Given the description of an element on the screen output the (x, y) to click on. 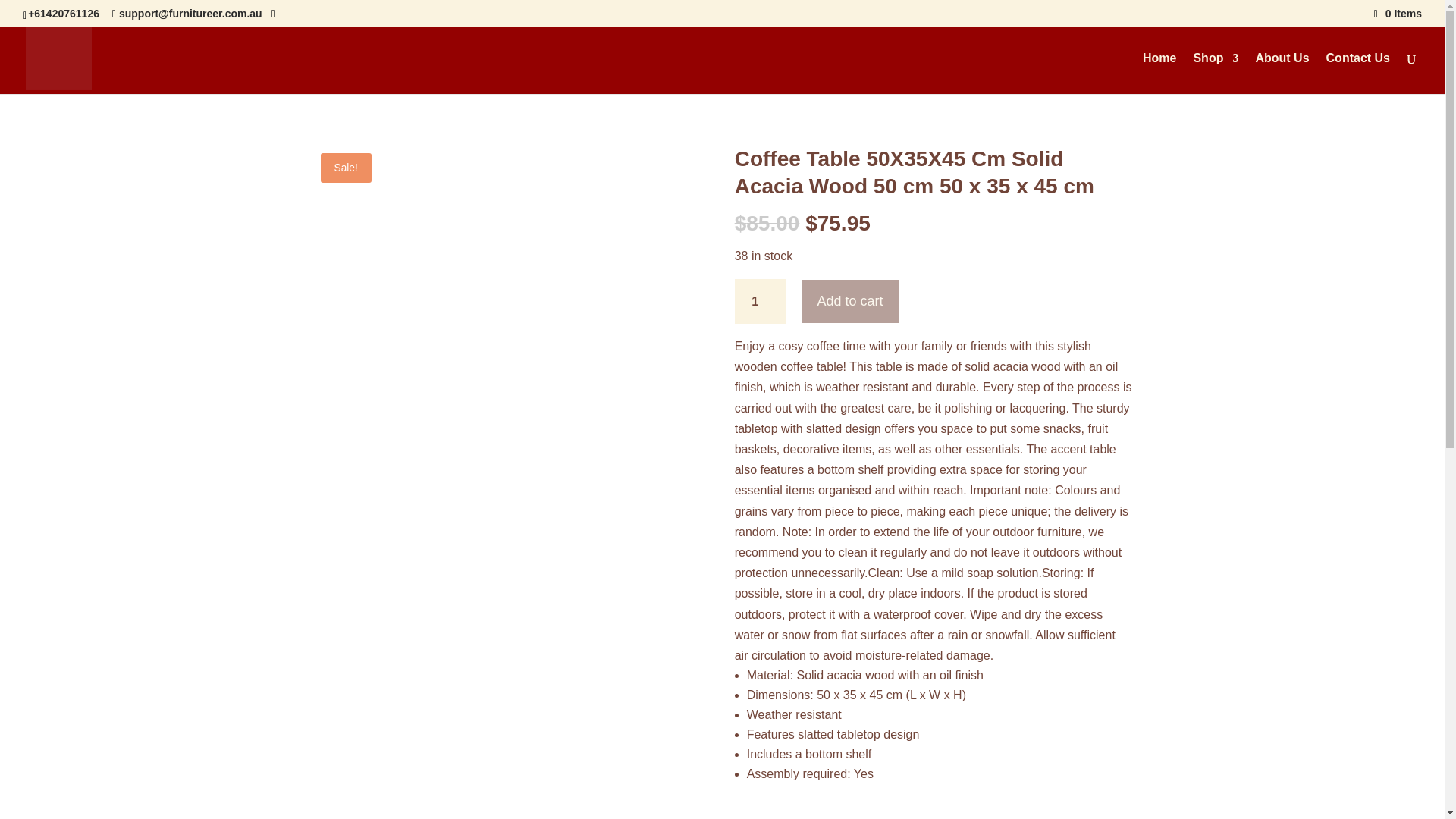
Shop (1215, 73)
Contact Us (1358, 73)
About Us (1281, 73)
1 (761, 301)
Add to cart (850, 301)
0 Items (1398, 13)
